Given the description of an element on the screen output the (x, y) to click on. 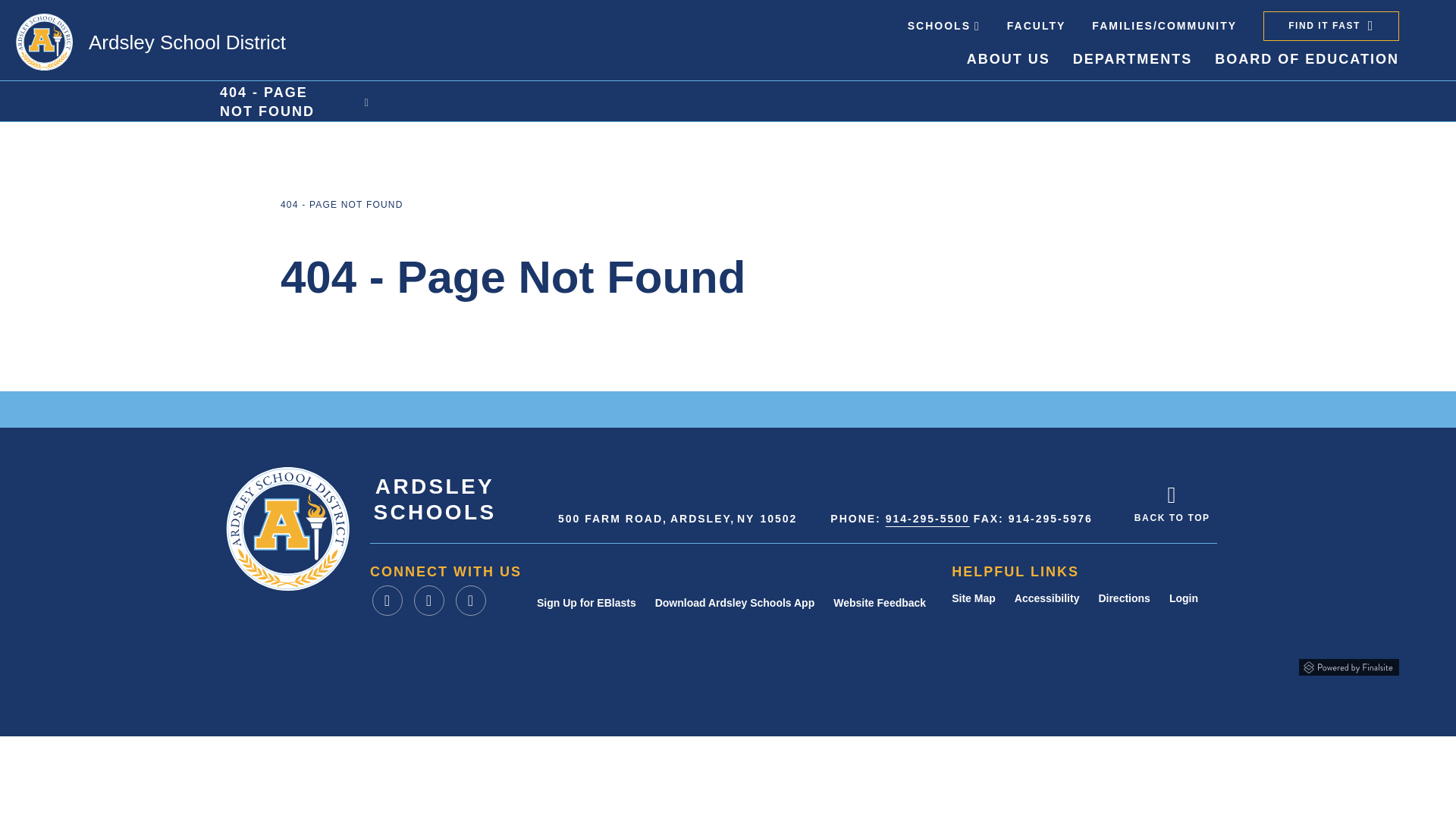
Powered by Finalsite opens in a new window (1348, 664)
